Given the description of an element on the screen output the (x, y) to click on. 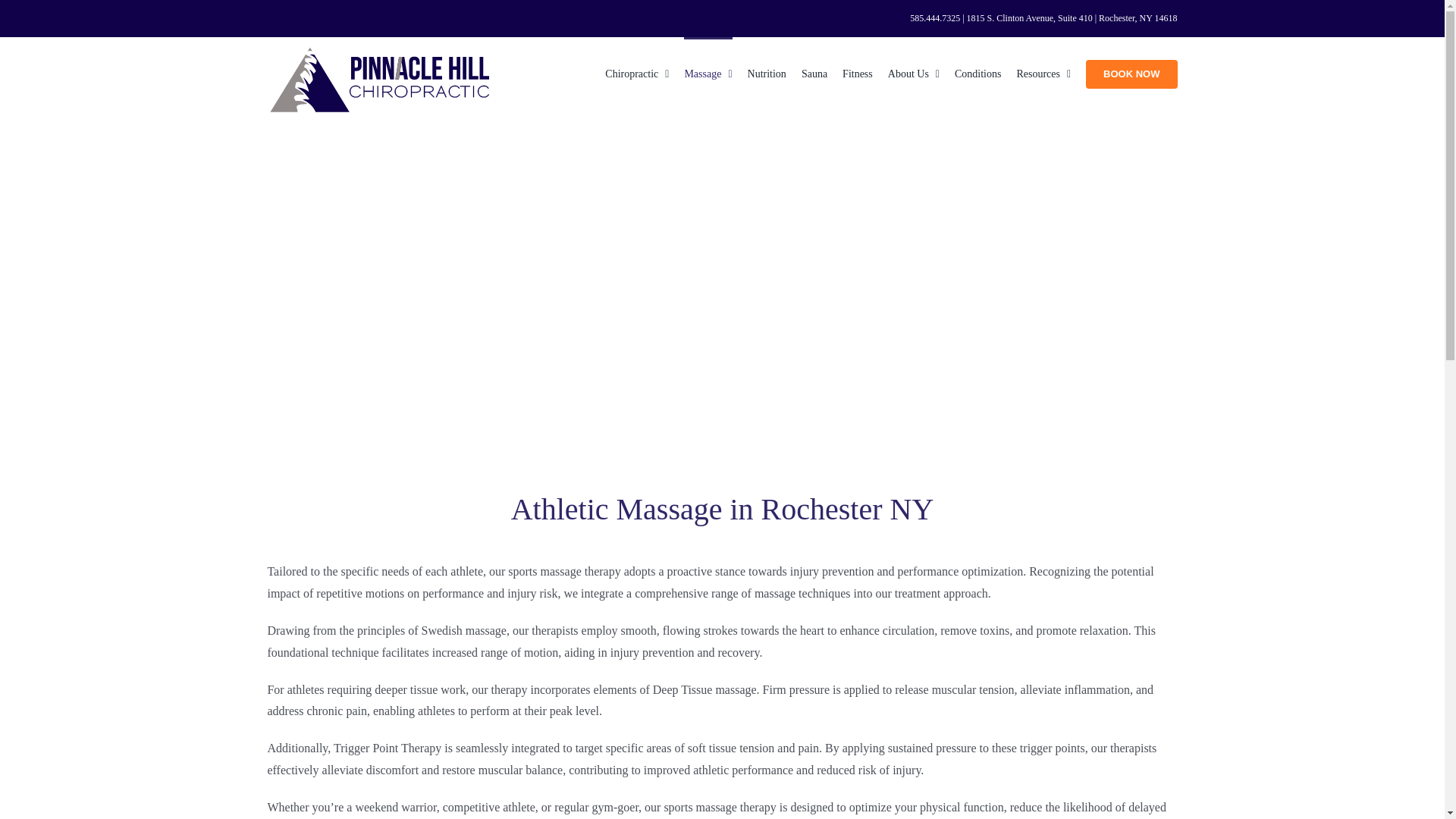
Chiropractic (636, 72)
BOOK NOW (1131, 72)
585.444.7325 (934, 18)
